Given the description of an element on the screen output the (x, y) to click on. 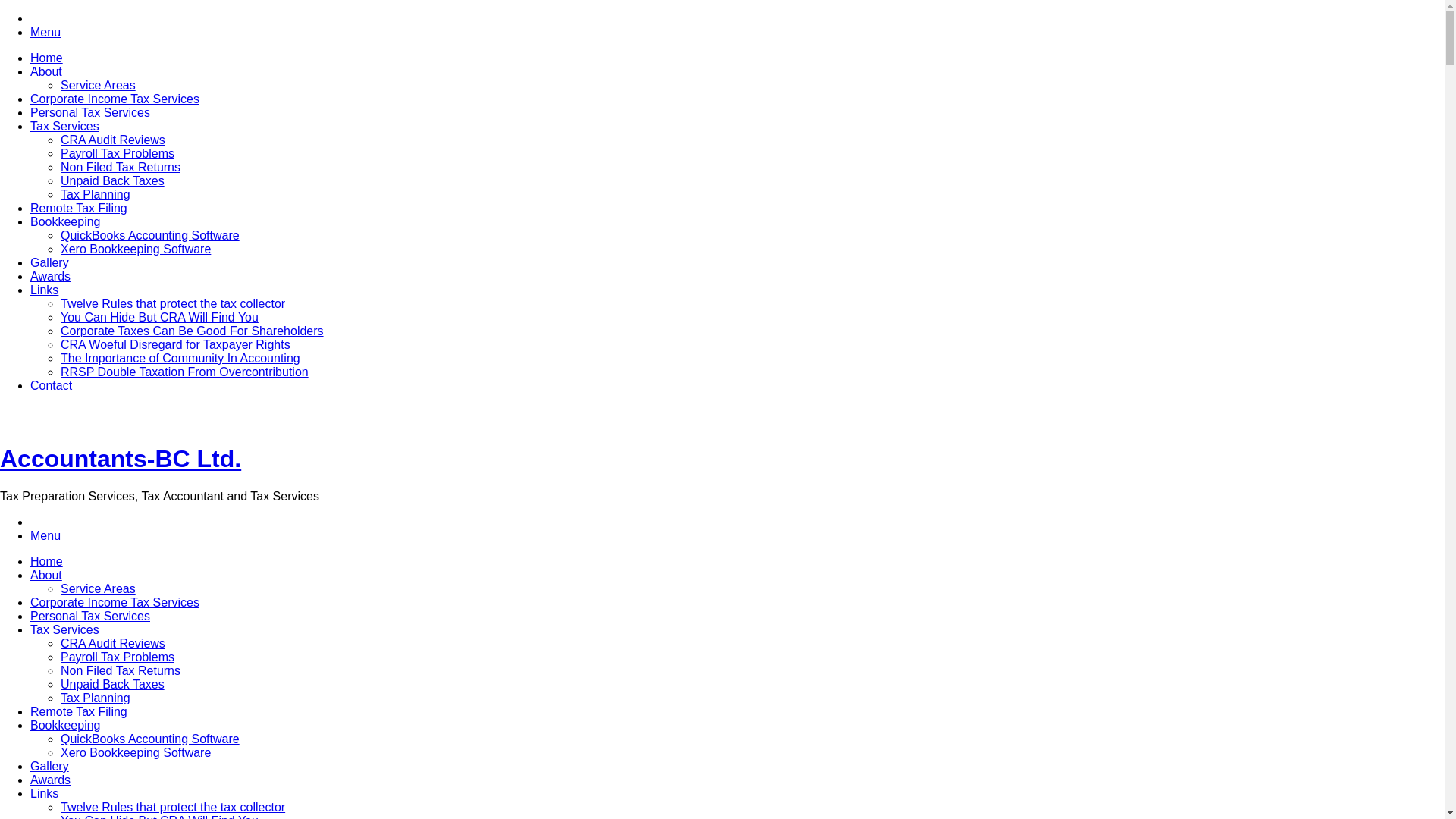
Service Areas Element type: text (97, 588)
QuickBooks Accounting Software Element type: text (149, 235)
The Importance of Community In Accounting Element type: text (180, 357)
Twelve Rules that protect the tax collector Element type: text (172, 303)
Tax Planning Element type: text (95, 194)
Xero Bookkeeping Software Element type: text (135, 248)
Xero Bookkeeping Software Element type: text (135, 752)
Links Element type: text (44, 289)
About Element type: text (46, 574)
Corporate Taxes Can Be Good For Shareholders Element type: text (191, 330)
Awards Element type: text (50, 275)
Non Filed Tax Returns Element type: text (120, 166)
Bookkeeping Element type: text (65, 221)
Personal Tax Services Element type: text (90, 112)
RRSP Double Taxation From Overcontribution Element type: text (184, 371)
Contact Element type: text (51, 385)
Payroll Tax Problems Element type: text (117, 153)
Tax Planning Element type: text (95, 697)
Personal Tax Services Element type: text (90, 615)
Accountants-BC Ltd. Element type: text (120, 458)
Payroll Tax Problems Element type: text (117, 656)
CRA Audit Reviews Element type: text (112, 139)
CRA Woeful Disregard for Taxpayer Rights Element type: text (175, 344)
Gallery Element type: text (49, 262)
Twelve Rules that protect the tax collector Element type: text (172, 806)
About Element type: text (46, 71)
Tax Services Element type: text (64, 125)
Home Element type: text (46, 57)
Remote Tax Filing Element type: text (78, 711)
Bookkeeping Element type: text (65, 724)
Unpaid Back Taxes Element type: text (112, 180)
Non Filed Tax Returns Element type: text (120, 670)
Remote Tax Filing Element type: text (78, 207)
CRA Audit Reviews Element type: text (112, 643)
Corporate Income Tax Services Element type: text (114, 602)
Home Element type: text (46, 561)
Gallery Element type: text (49, 765)
Tax Services Element type: text (64, 629)
Unpaid Back Taxes Element type: text (112, 683)
You Can Hide But CRA Will Find You Element type: text (159, 316)
Corporate Income Tax Services Element type: text (114, 98)
Awards Element type: text (50, 779)
Service Areas Element type: text (97, 84)
Menu Element type: text (45, 31)
Links Element type: text (44, 793)
Menu Element type: text (45, 535)
QuickBooks Accounting Software Element type: text (149, 738)
